Given the description of an element on the screen output the (x, y) to click on. 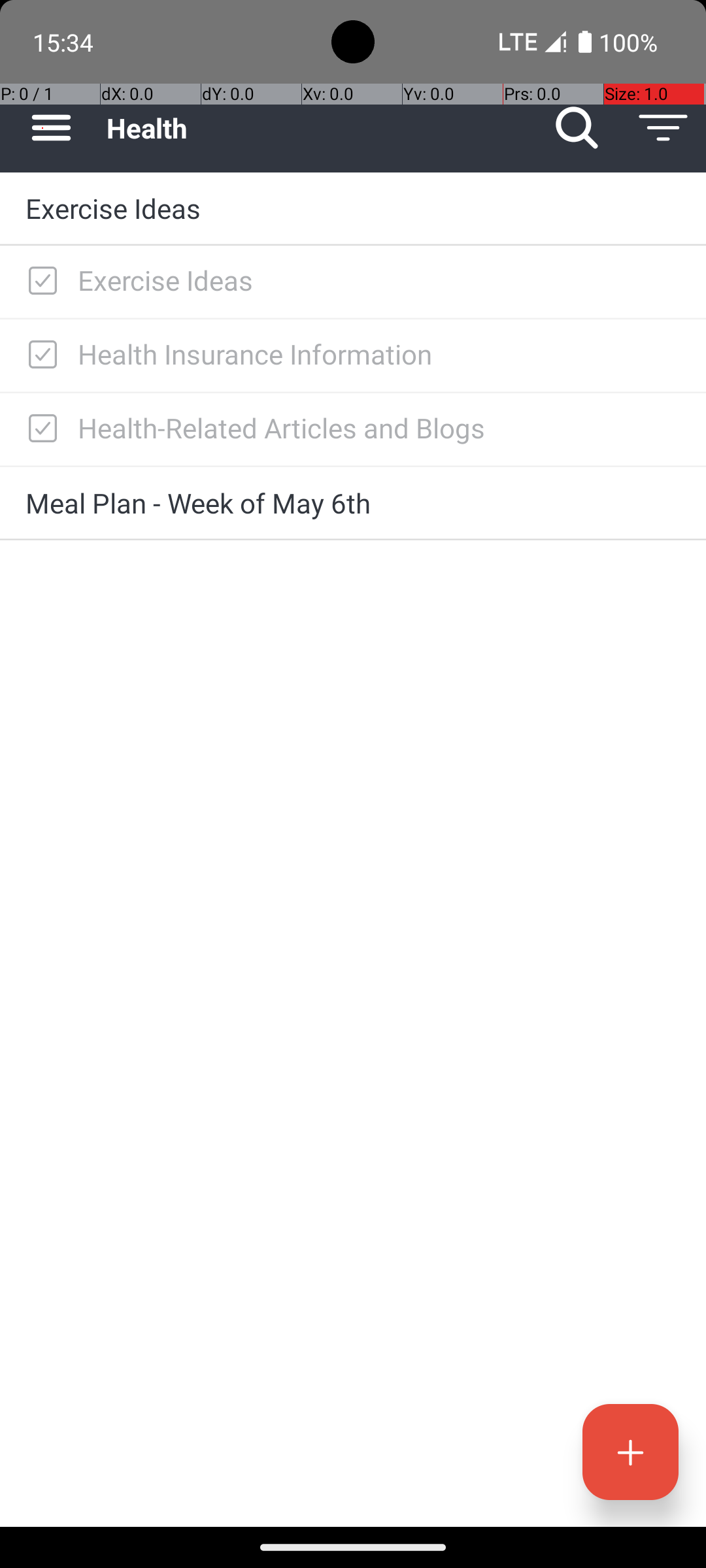
Exercise Ideas Element type: android.widget.TextView (352, 207)
to-do: Exercise Ideas Element type: android.widget.CheckBox (38, 281)
to-do: Health Insurance Information Element type: android.widget.CheckBox (38, 355)
Health Insurance Information Element type: android.widget.TextView (378, 353)
to-do: Health-Related Articles and Blogs Element type: android.widget.CheckBox (38, 429)
Health-Related Articles and Blogs Element type: android.widget.TextView (378, 427)
Meal Plan - Week of May 6th Element type: android.widget.TextView (352, 502)
